Given the description of an element on the screen output the (x, y) to click on. 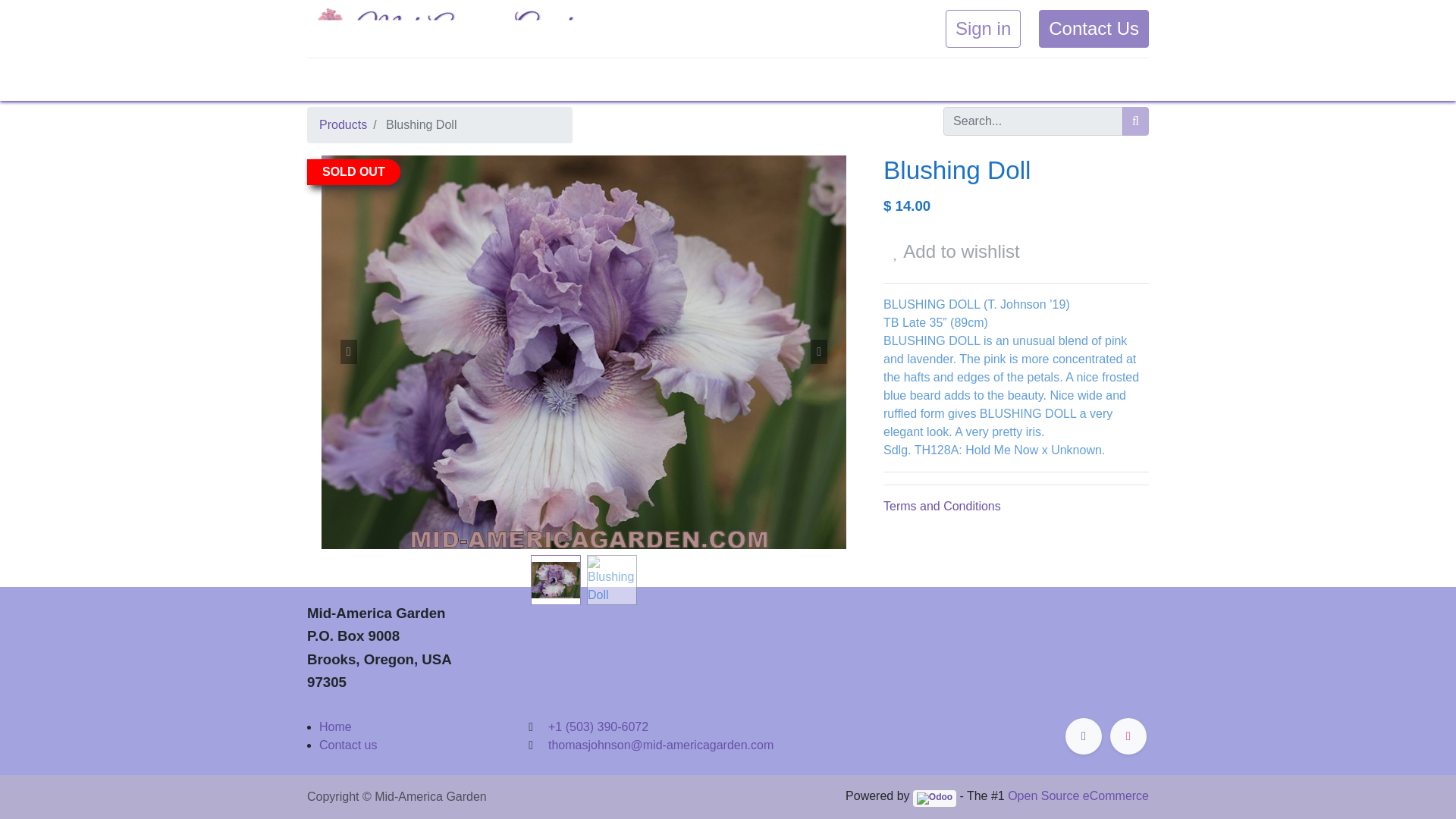
Terms and Conditions (942, 505)
Mid-America Garden (449, 28)
Contact us (347, 744)
Sign in (982, 28)
Open Source eCommerce (1077, 795)
Products (342, 124)
Search (1135, 121)
Home (335, 726)
Add to wishlist (956, 251)
Contact Us (1093, 28)
